Given the description of an element on the screen output the (x, y) to click on. 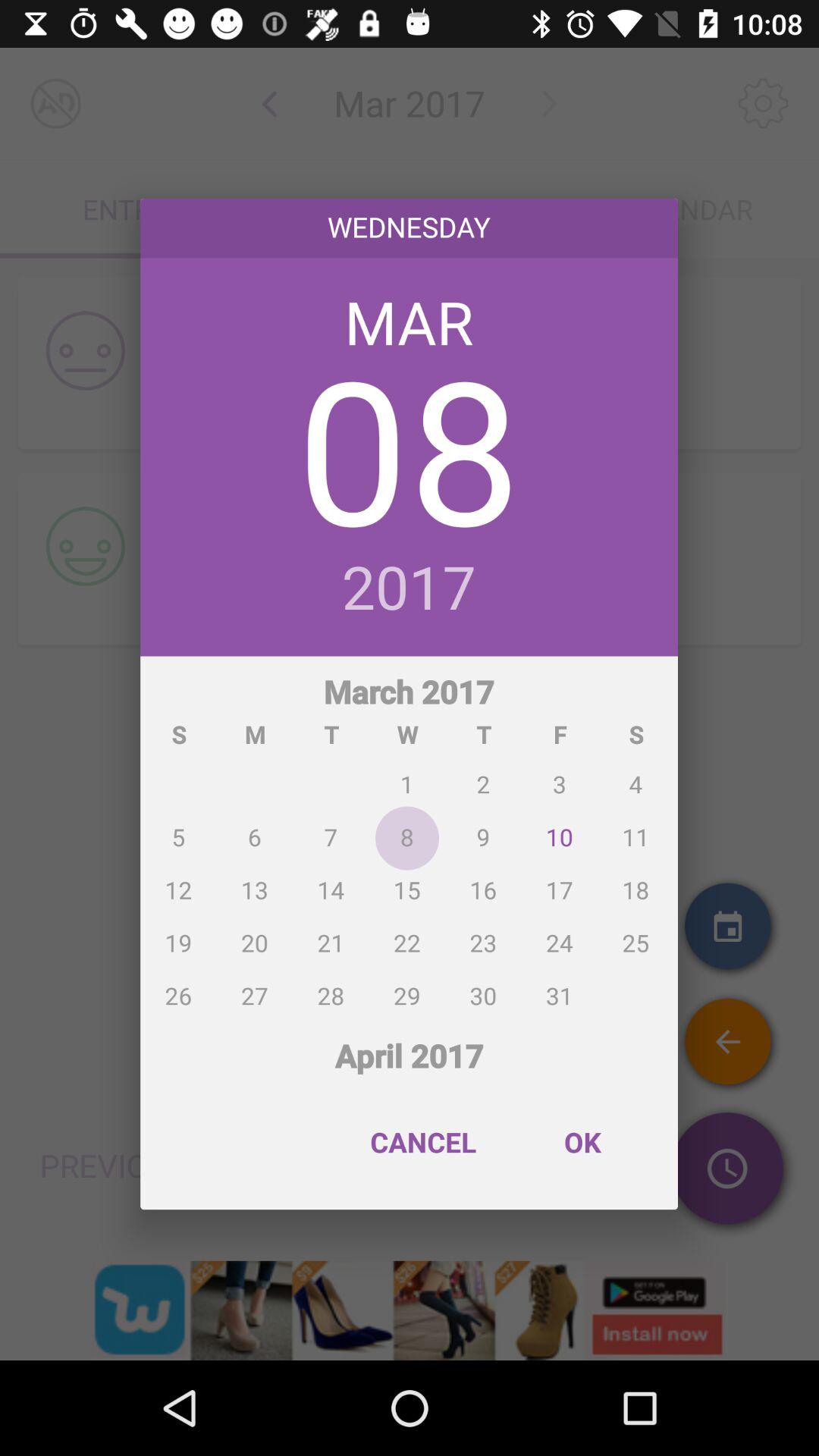
click the button to the left of ok button (422, 1141)
